Given the description of an element on the screen output the (x, y) to click on. 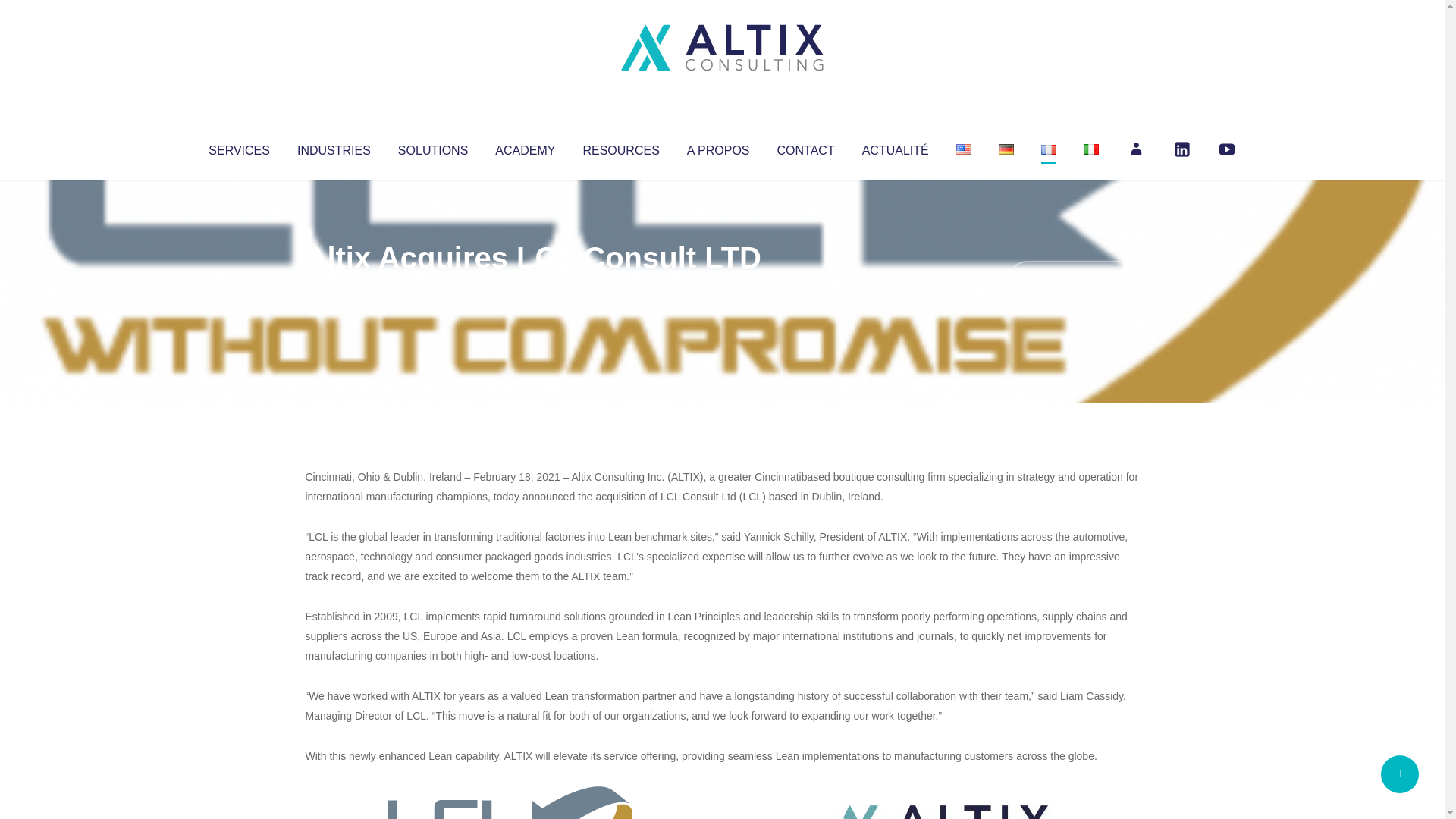
SERVICES (238, 146)
Articles par Altix (333, 287)
RESOURCES (620, 146)
No Comments (1073, 278)
Uncategorized (530, 287)
INDUSTRIES (334, 146)
SOLUTIONS (432, 146)
ACADEMY (524, 146)
Altix (333, 287)
A PROPOS (718, 146)
